Given the description of an element on the screen output the (x, y) to click on. 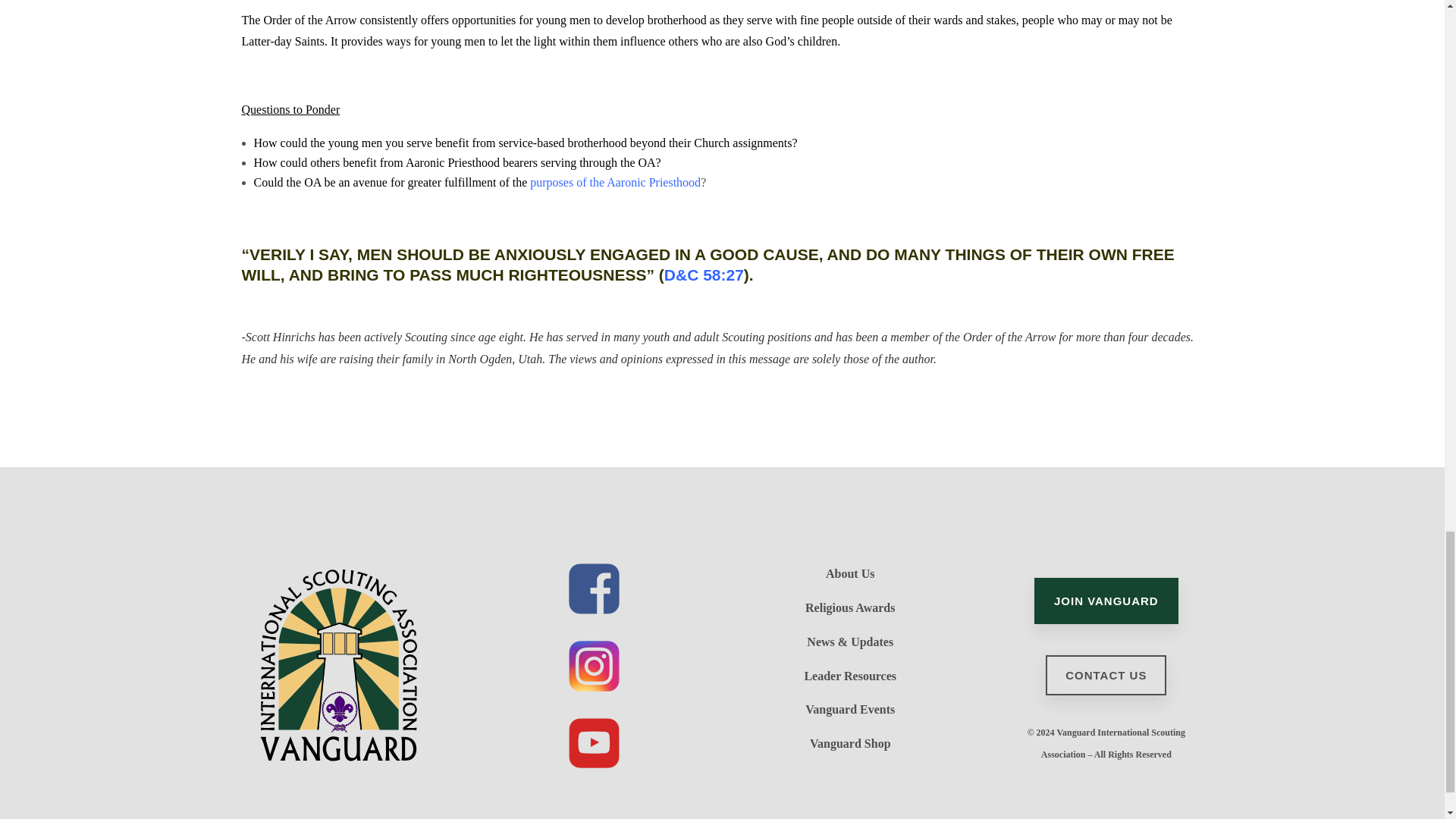
YouTube Icon (594, 743)
Vanguard Shop (850, 743)
Vanguard Logo-Color (337, 664)
purposes of the Aaronic Priesthood (614, 182)
Instagram Icon (594, 665)
Vanguard Events (850, 708)
Leader Resources (849, 675)
JOIN VANGUARD (1105, 601)
CONTACT US (1105, 675)
About Us (850, 573)
Religious Awards (850, 607)
Facebook Icon (594, 588)
